Given the description of an element on the screen output the (x, y) to click on. 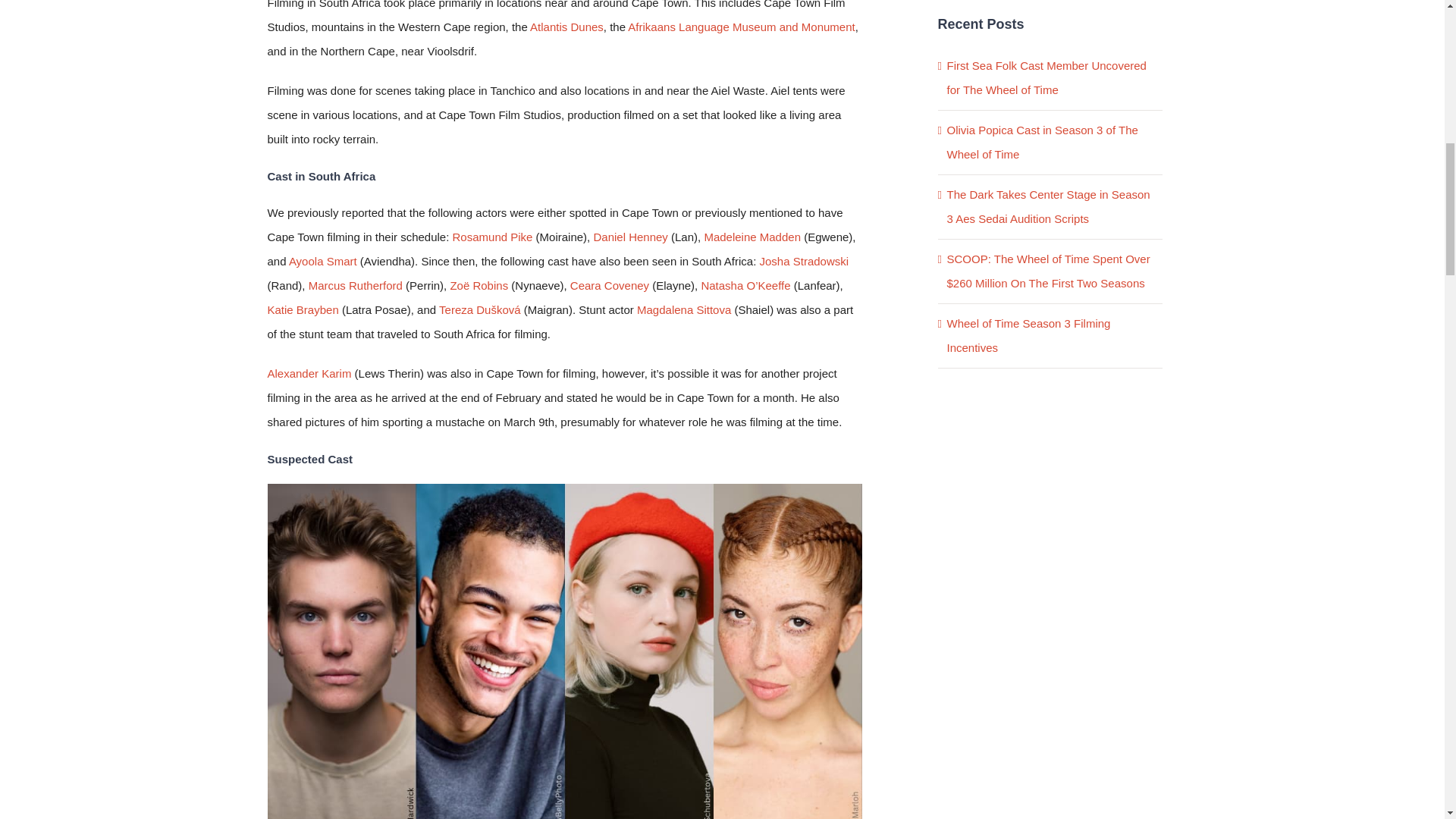
Josha Stradowski (804, 260)
Ceara Coveney (609, 285)
Rosamund Pike (492, 236)
Madeleine Madden (751, 236)
Afrikaans Language Museum and Monument (740, 26)
Marcus Rutherford (355, 285)
Magdalena Sittova (683, 309)
Daniel Henney (629, 236)
Alexander Karim (308, 373)
Ayoola Smart (322, 260)
